Given the description of an element on the screen output the (x, y) to click on. 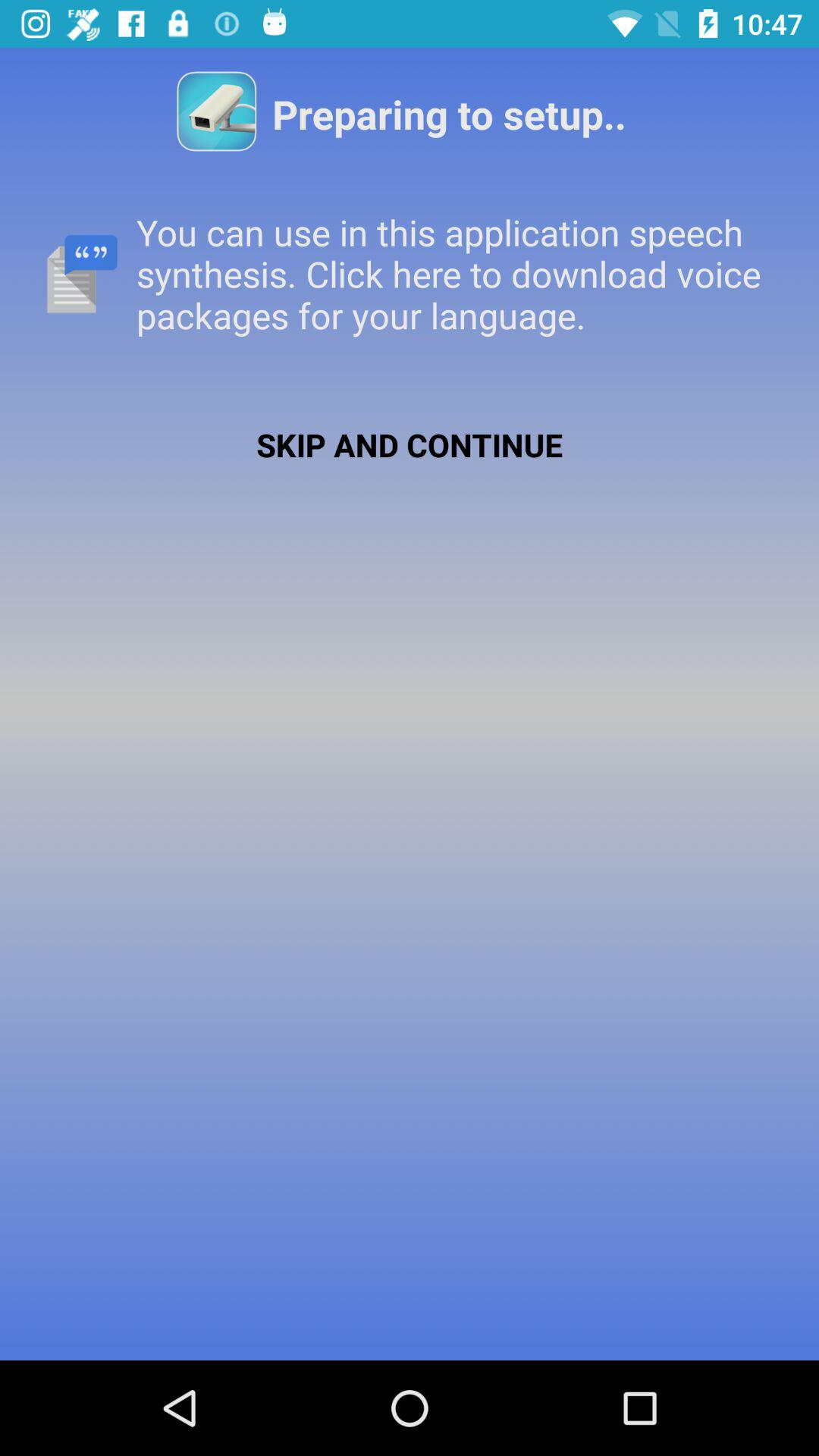
tap the app below the you can use app (409, 444)
